Given the description of an element on the screen output the (x, y) to click on. 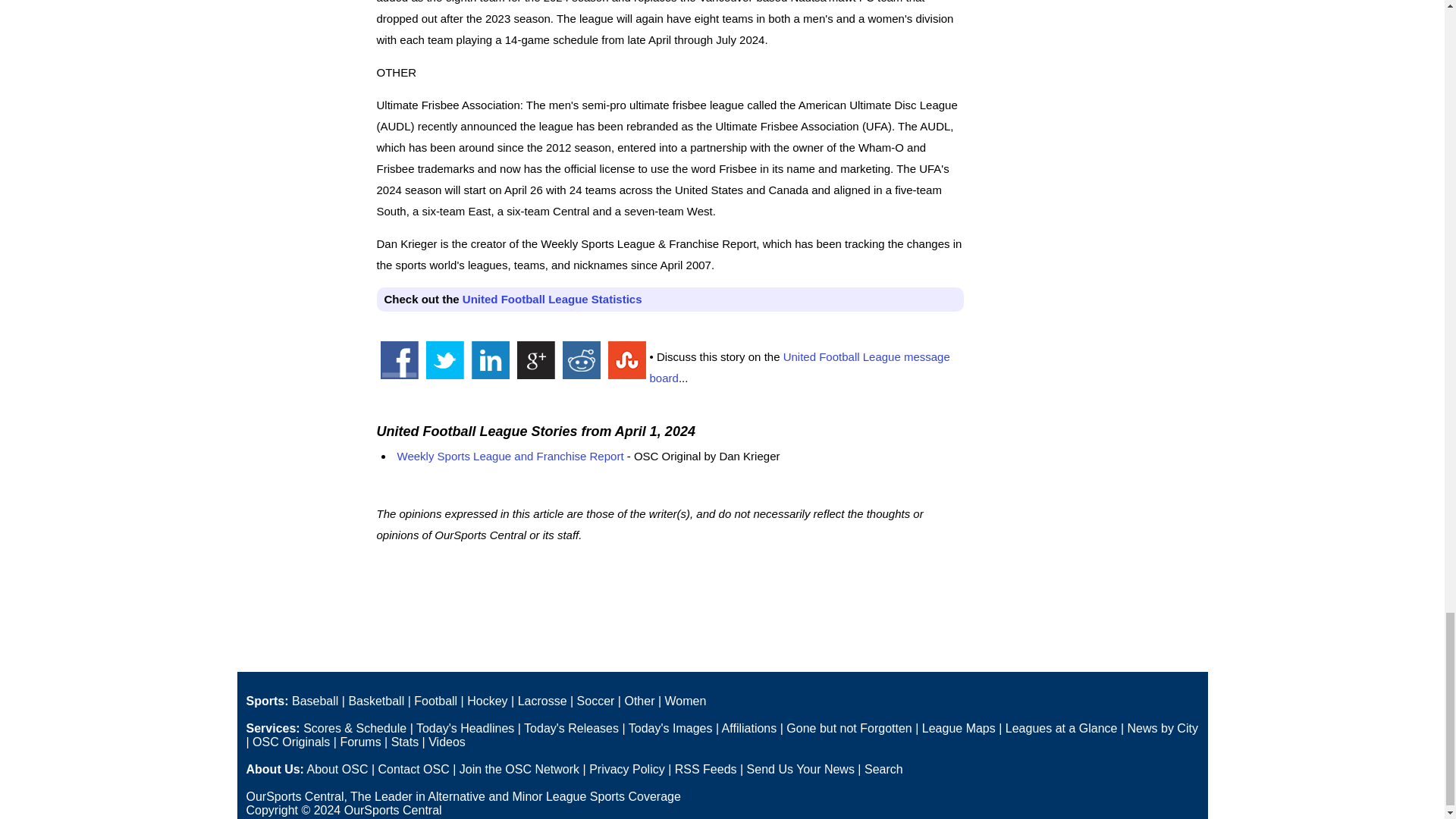
Leagues at a Glance (1062, 727)
League Maps (958, 727)
Today's Releases (571, 727)
Gone but not Forgotten (848, 727)
Affiliations (749, 727)
Today's Headlines (464, 727)
News by City (1162, 727)
Today's Images (670, 727)
